Given the description of an element on the screen output the (x, y) to click on. 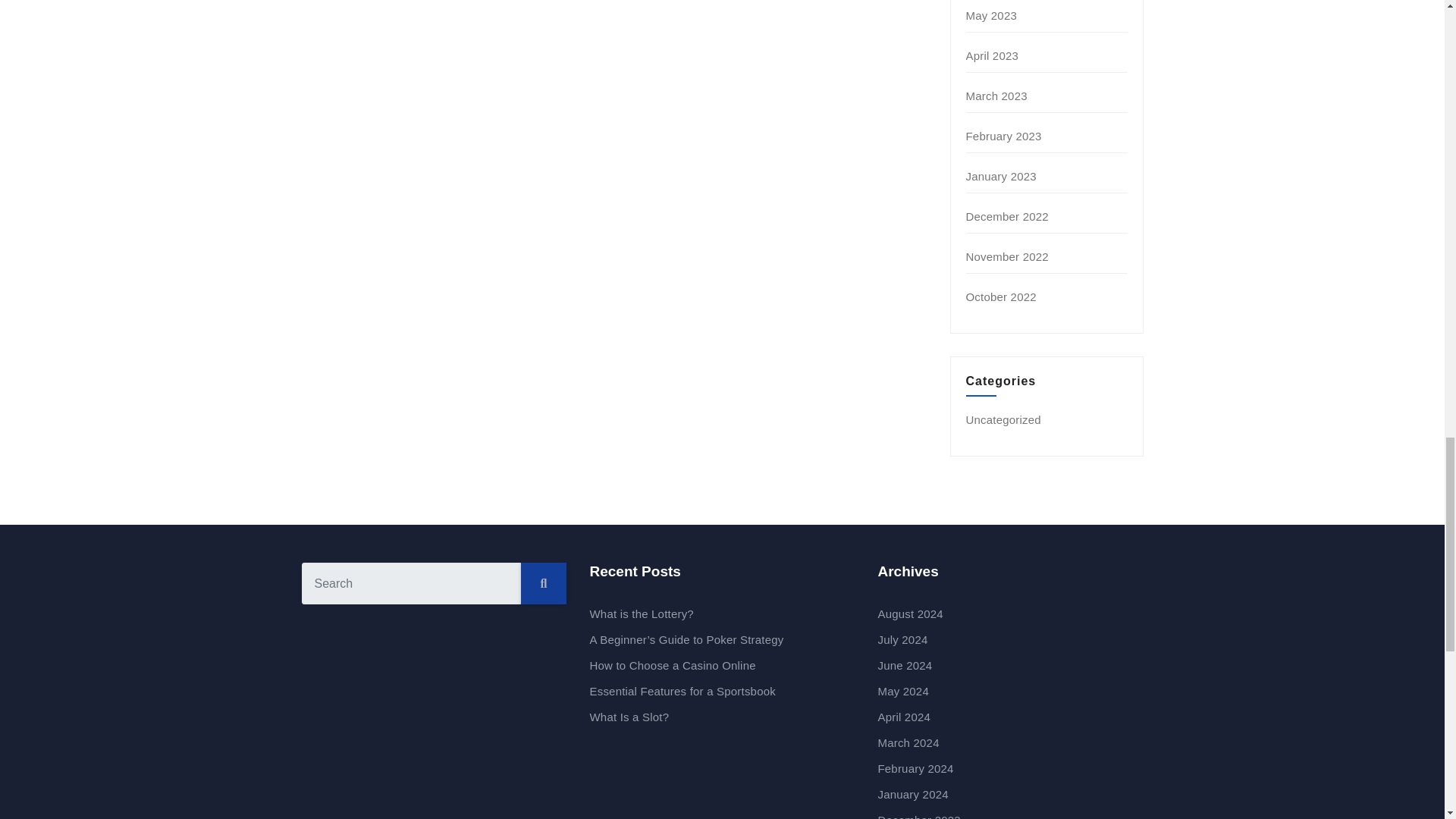
Uncategorized (1003, 419)
May 2023 (991, 15)
February 2023 (1004, 135)
March 2023 (996, 95)
October 2022 (1001, 296)
What is the Lottery? (641, 613)
December 2022 (1007, 215)
January 2023 (1001, 175)
November 2022 (1007, 256)
April 2023 (992, 55)
